Given the description of an element on the screen output the (x, y) to click on. 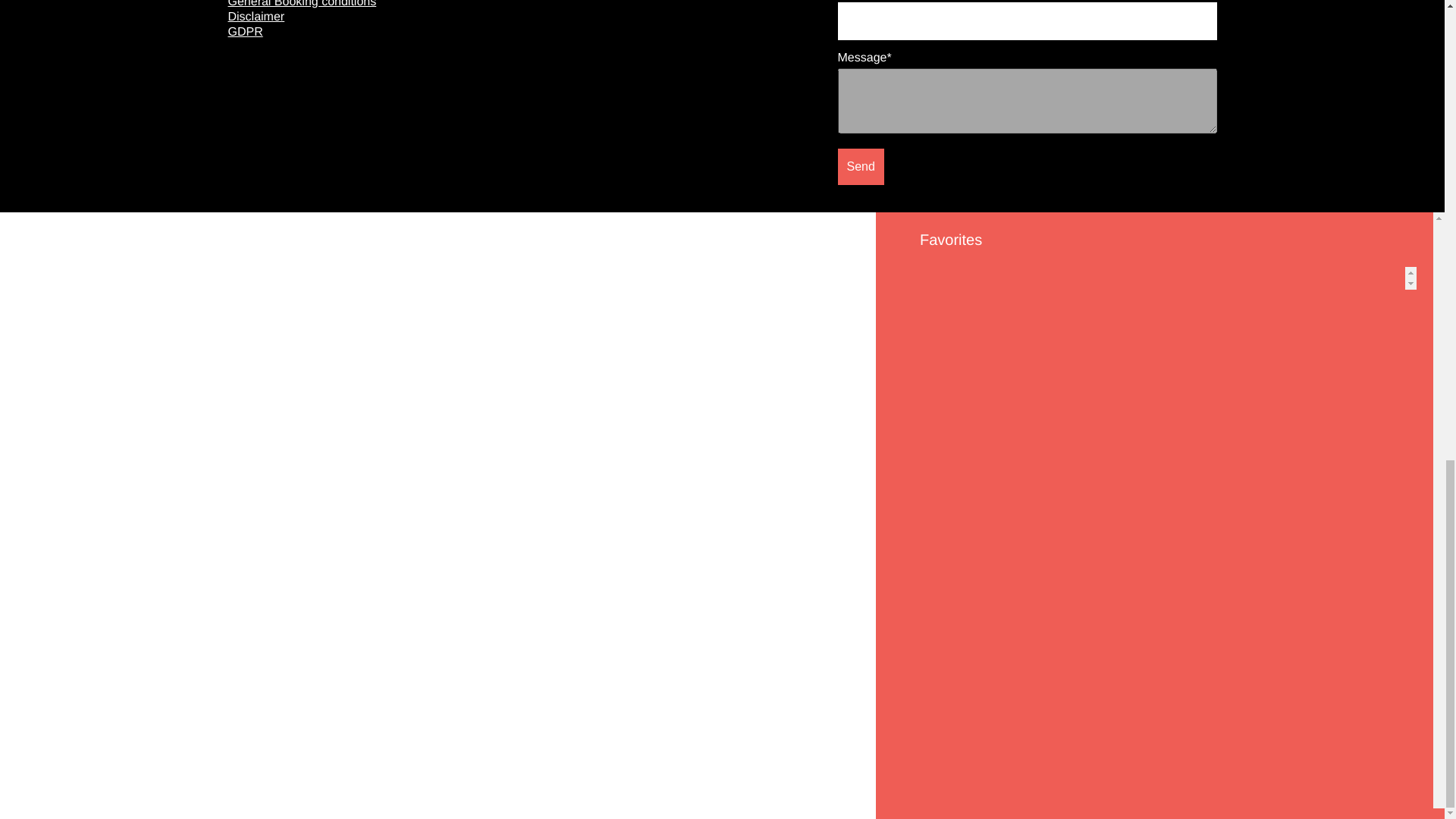
Send (860, 166)
Send (860, 166)
Disclaimer (255, 16)
GDPR (244, 31)
General Booking conditions (301, 4)
